Given the description of an element on the screen output the (x, y) to click on. 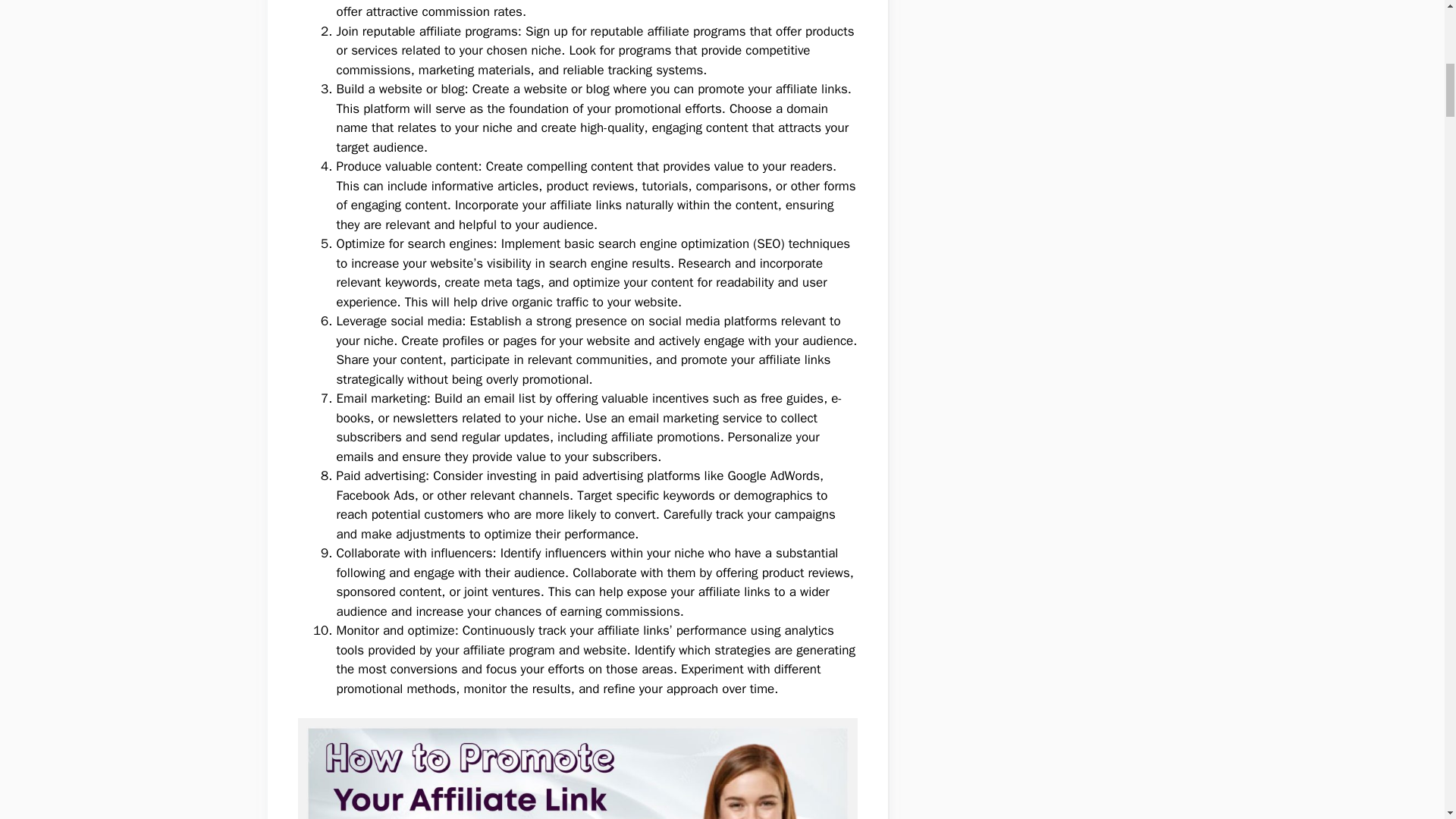
Scroll back to top (1406, 720)
